Given the description of an element on the screen output the (x, y) to click on. 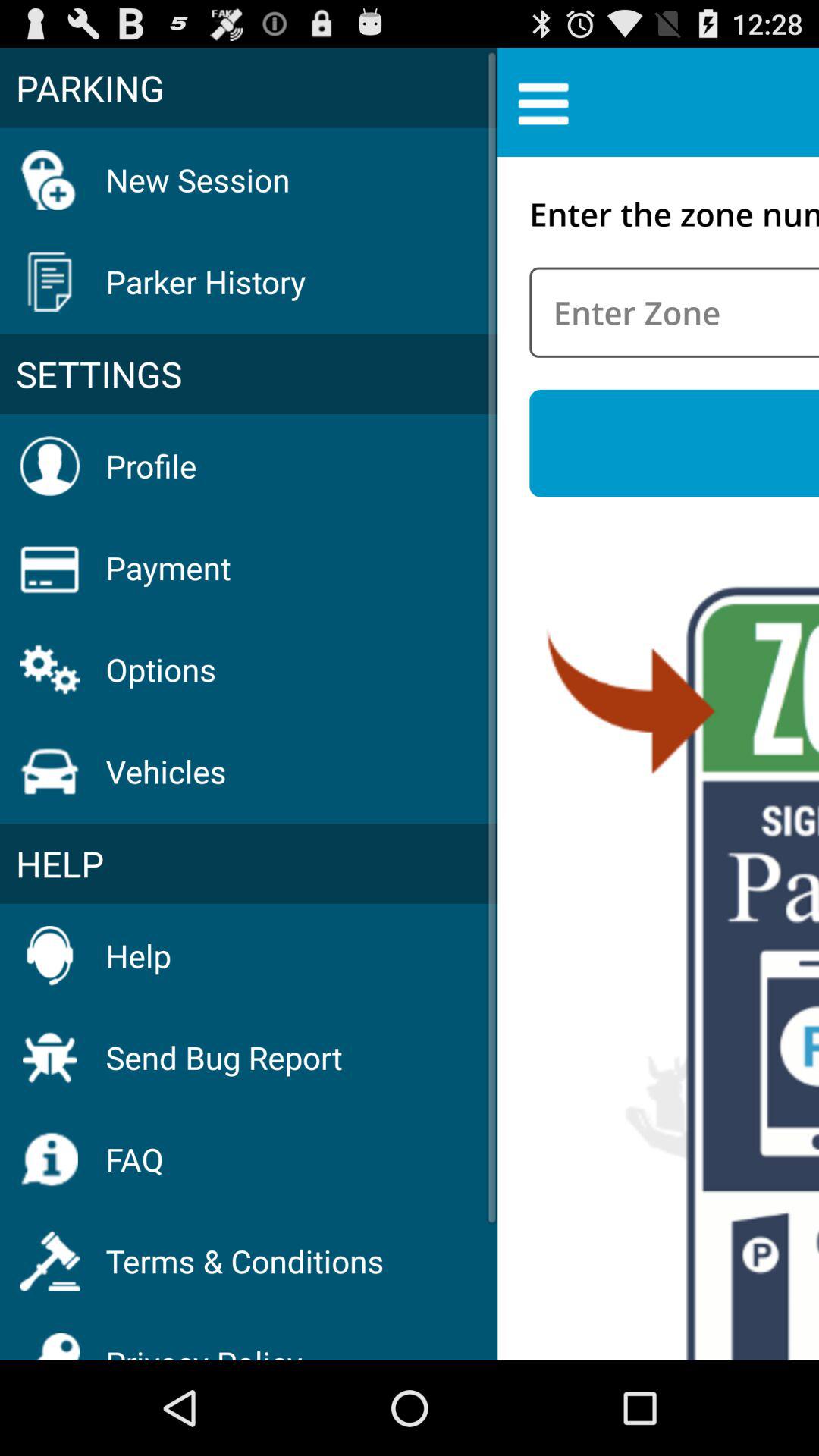
select icon below payment (160, 668)
